Given the description of an element on the screen output the (x, y) to click on. 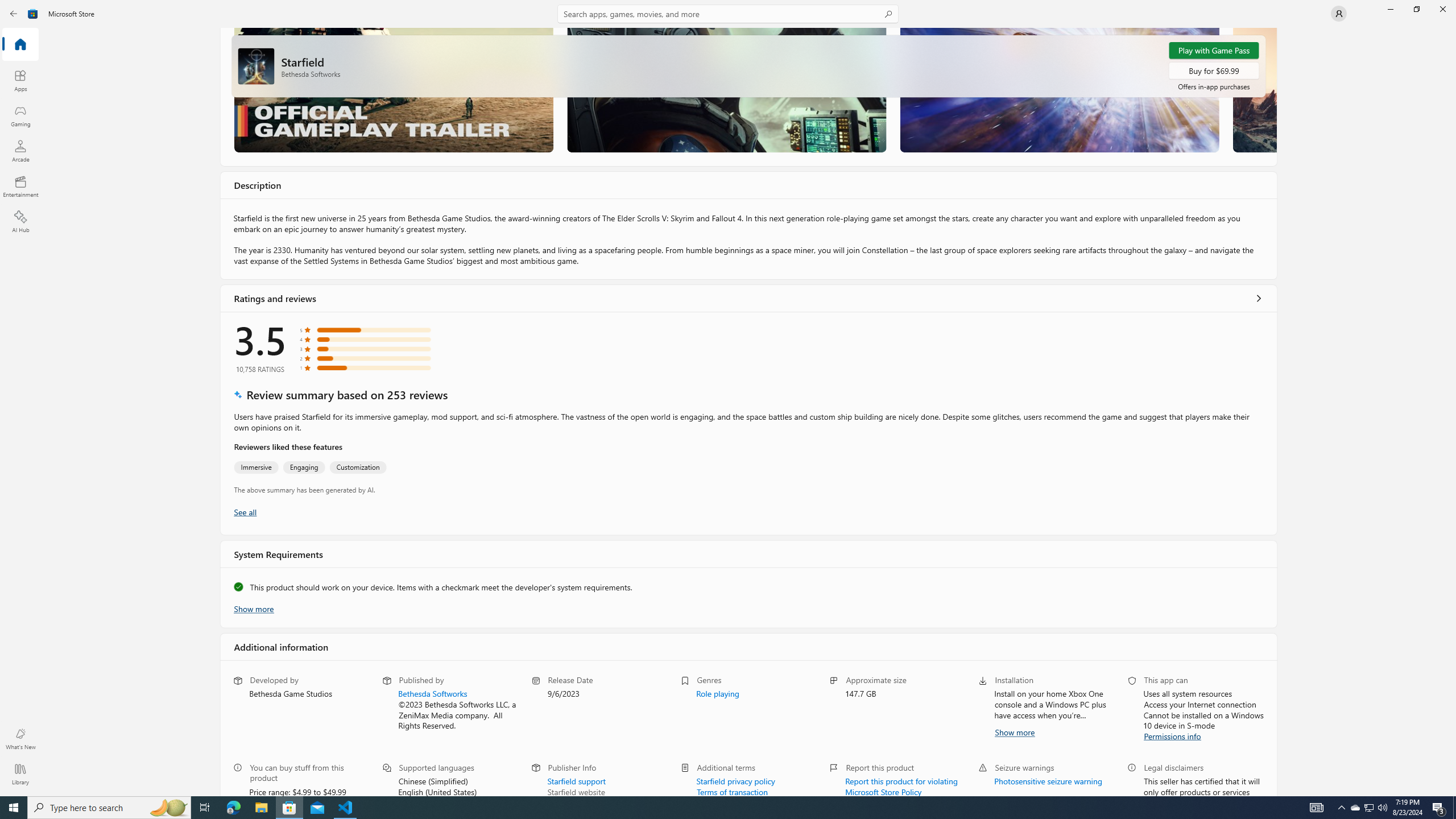
Play with Game Pass (1213, 49)
Back (13, 13)
Bethesda Softworks (432, 692)
Terms of transaction (732, 791)
AutomationID: NavigationControl (728, 398)
Photosensitive seizure warning (1048, 780)
Screenshot 2 (725, 89)
Screenshot 3 (1058, 89)
Show all ratings and reviews (1258, 298)
Gameplay Trailer (393, 89)
Search (727, 13)
